Given the description of an element on the screen output the (x, y) to click on. 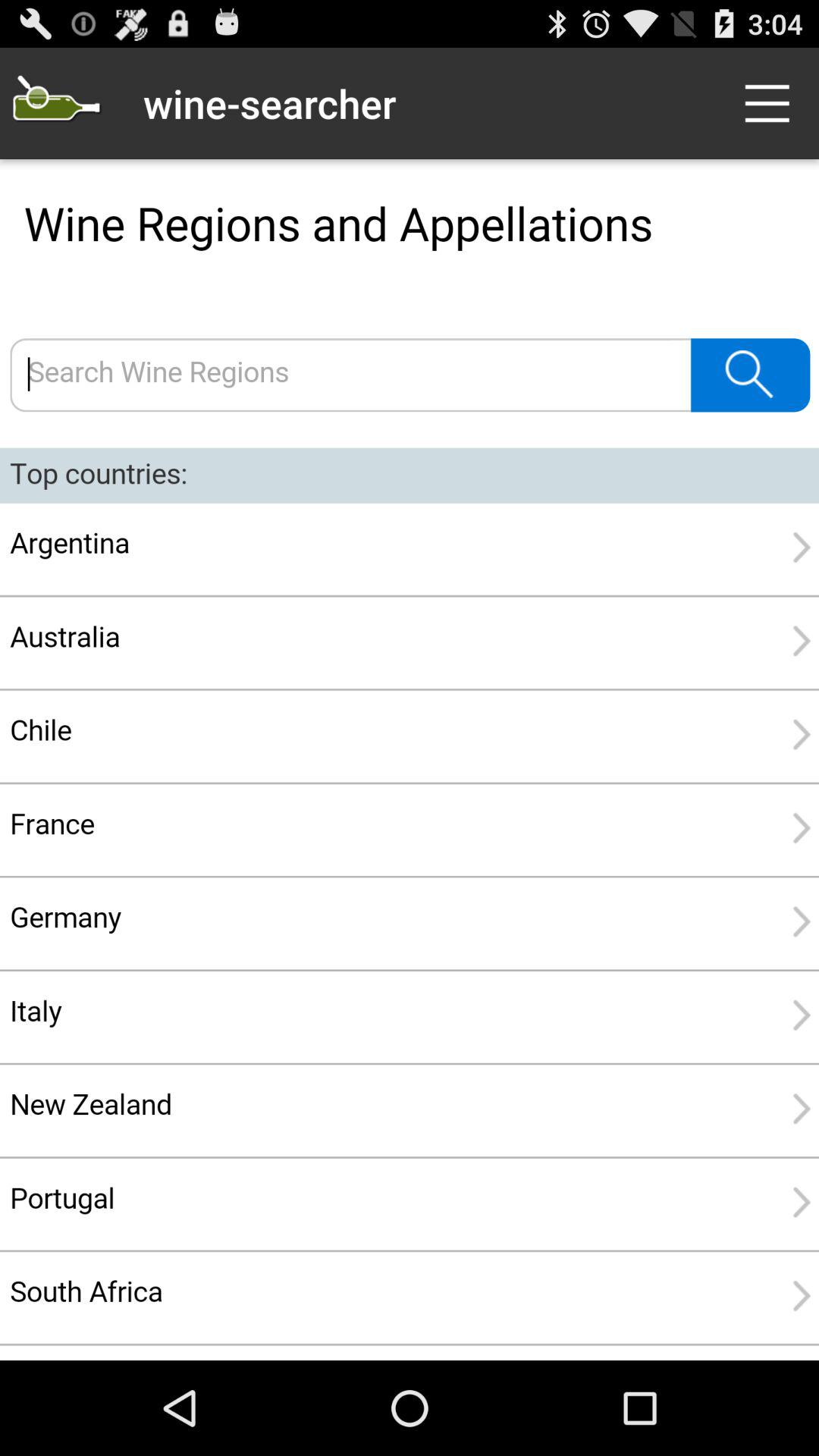
search for wine (409, 759)
